Given the description of an element on the screen output the (x, y) to click on. 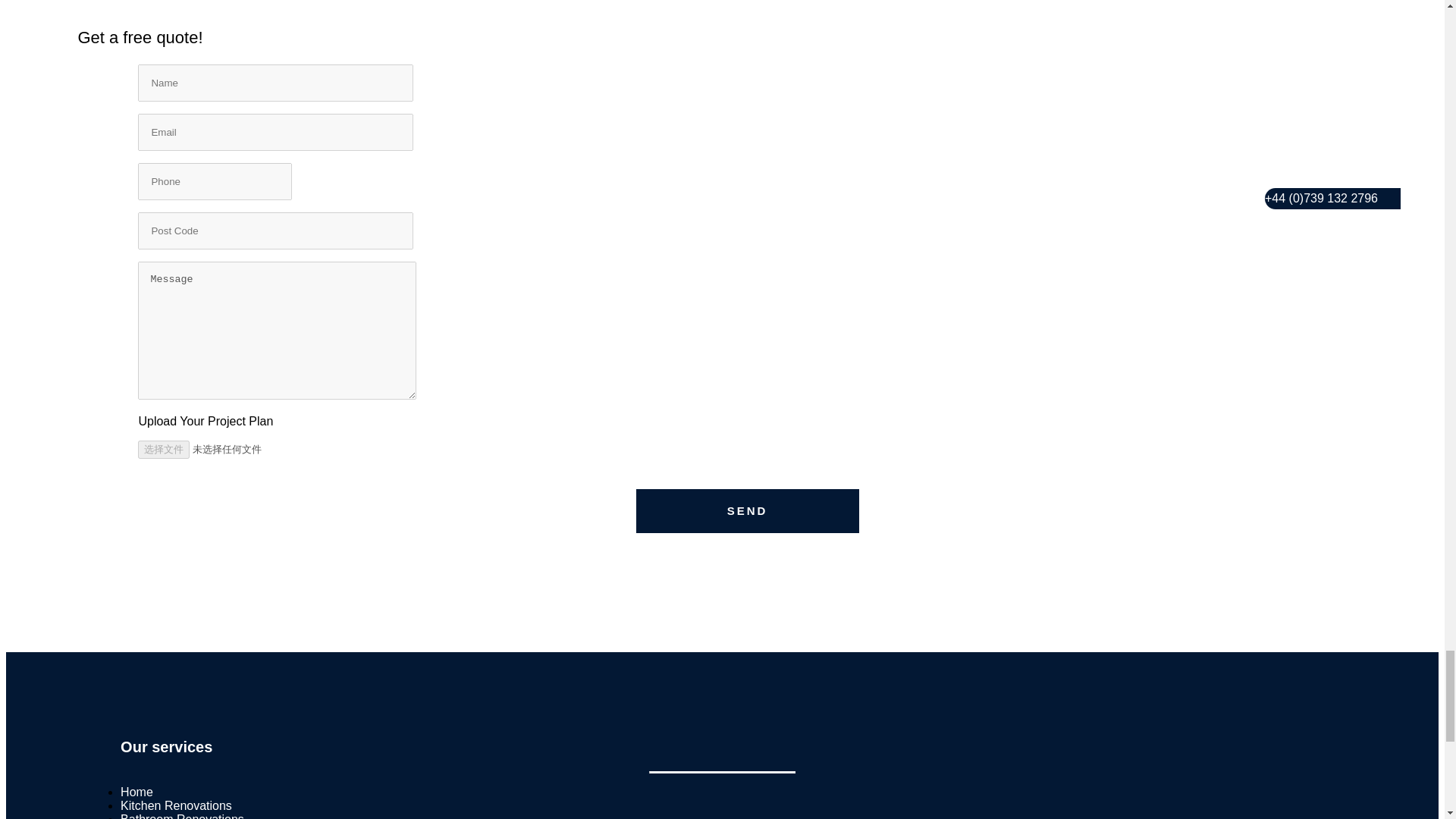
Home (136, 791)
SEND (747, 510)
Kitchen Renovations (175, 805)
SEND (747, 510)
Bathroom Renovations (182, 816)
